Given the description of an element on the screen output the (x, y) to click on. 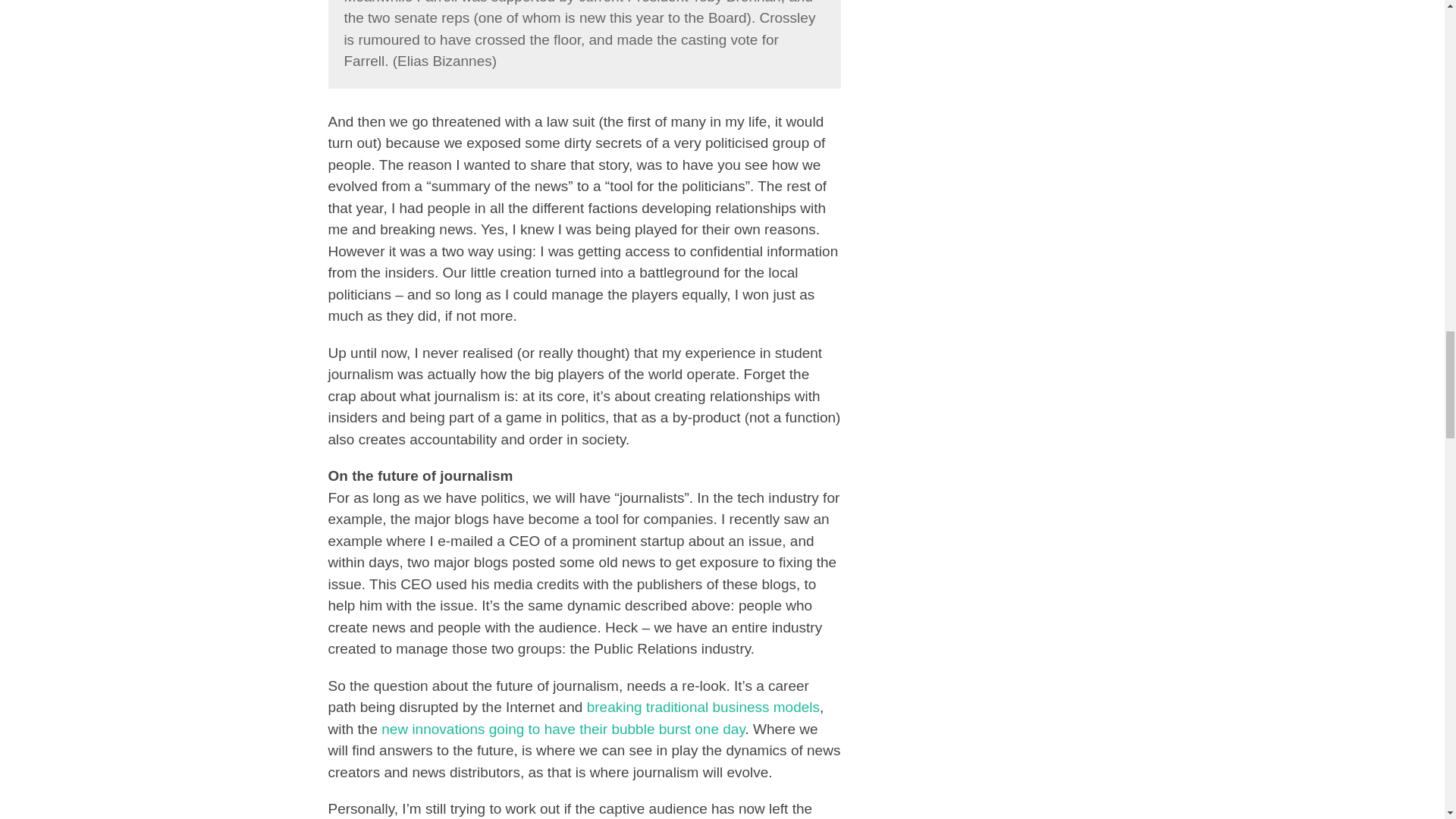
breaking traditional business models (700, 706)
new innovations going to have their bubble burst one day (562, 729)
